Given the description of an element on the screen output the (x, y) to click on. 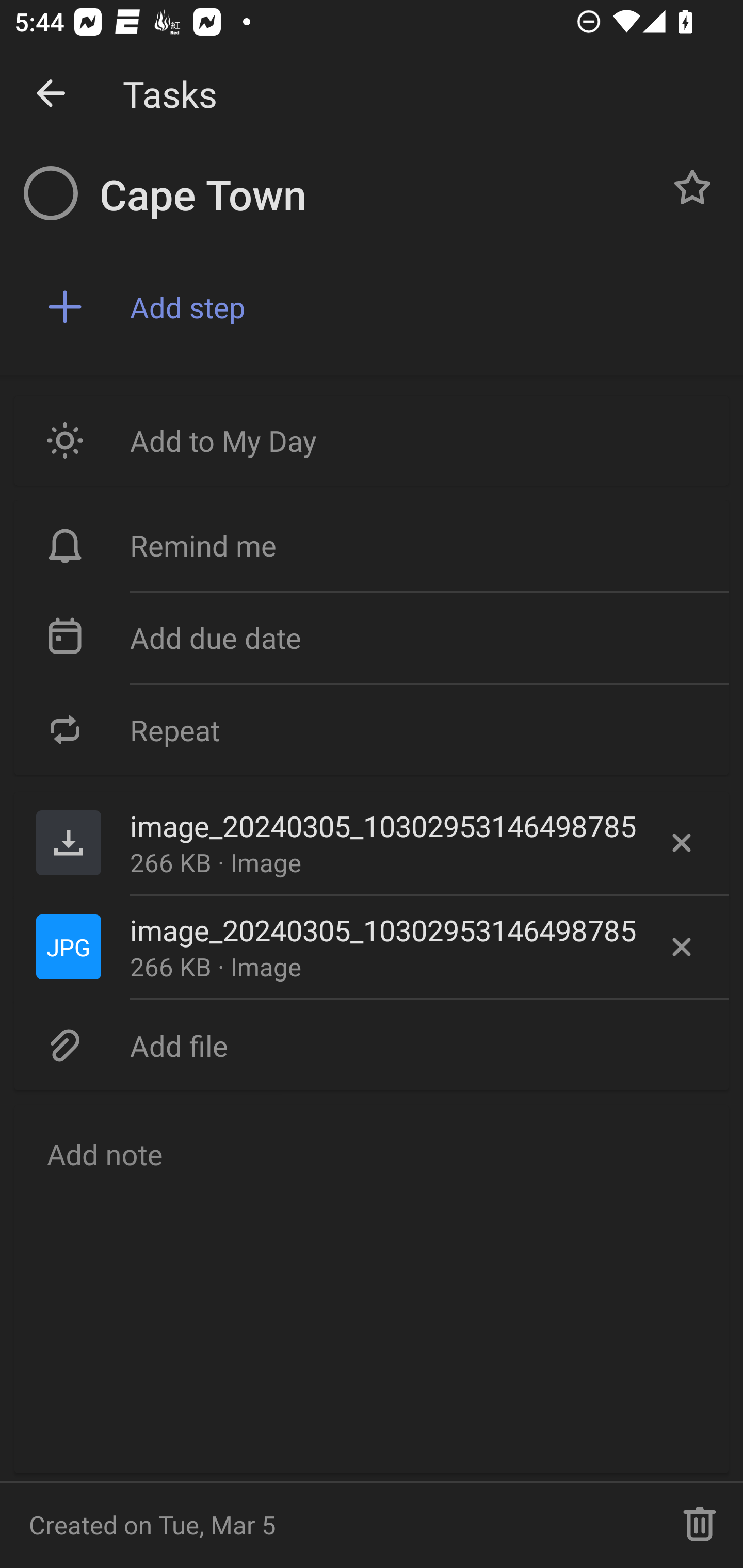
Dismiss detail view (50, 93)
Incomplete task Cape Town, Button (50, 192)
Cape Town (374, 195)
Normal task Cape Town, Button (692, 187)
Add step (422, 307)
Add to My Day (371, 440)
Remind me (371, 545)
Add due date (371, 637)
Repeat (371, 729)
Delete file (681, 842)
Delete file (681, 947)
Add file (371, 1044)
Add note, Button Email Renderer Add note (371, 1288)
Delete task (699, 1524)
